Given the description of an element on the screen output the (x, y) to click on. 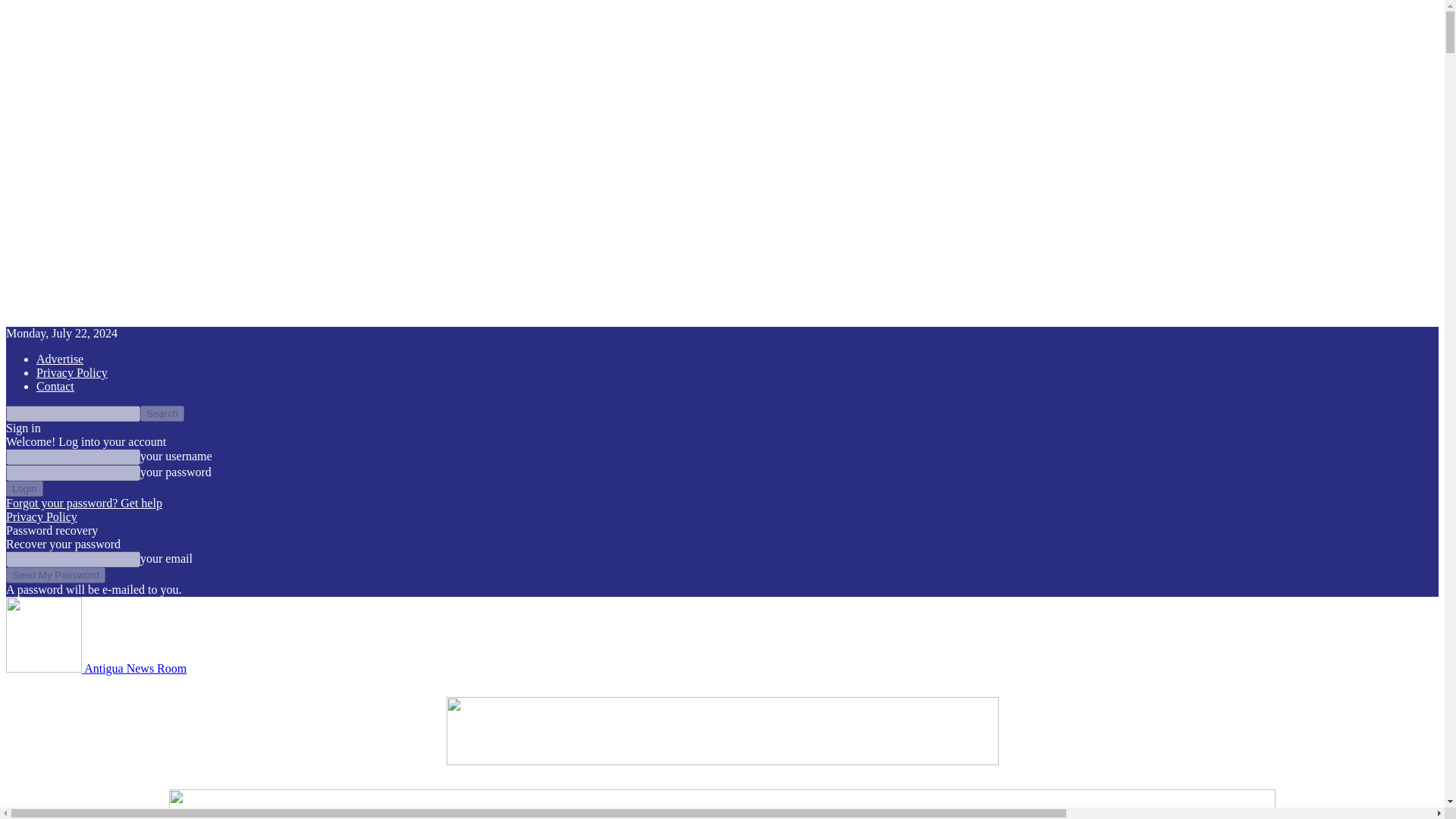
Login (24, 488)
Privacy Policy (71, 372)
Privacy Policy (41, 516)
Contact (55, 386)
Antigua News Room (95, 667)
Advertise (59, 358)
Send My Password (54, 575)
Forgot your password? Get help (83, 502)
Search (161, 413)
Search (161, 413)
